Given the description of an element on the screen output the (x, y) to click on. 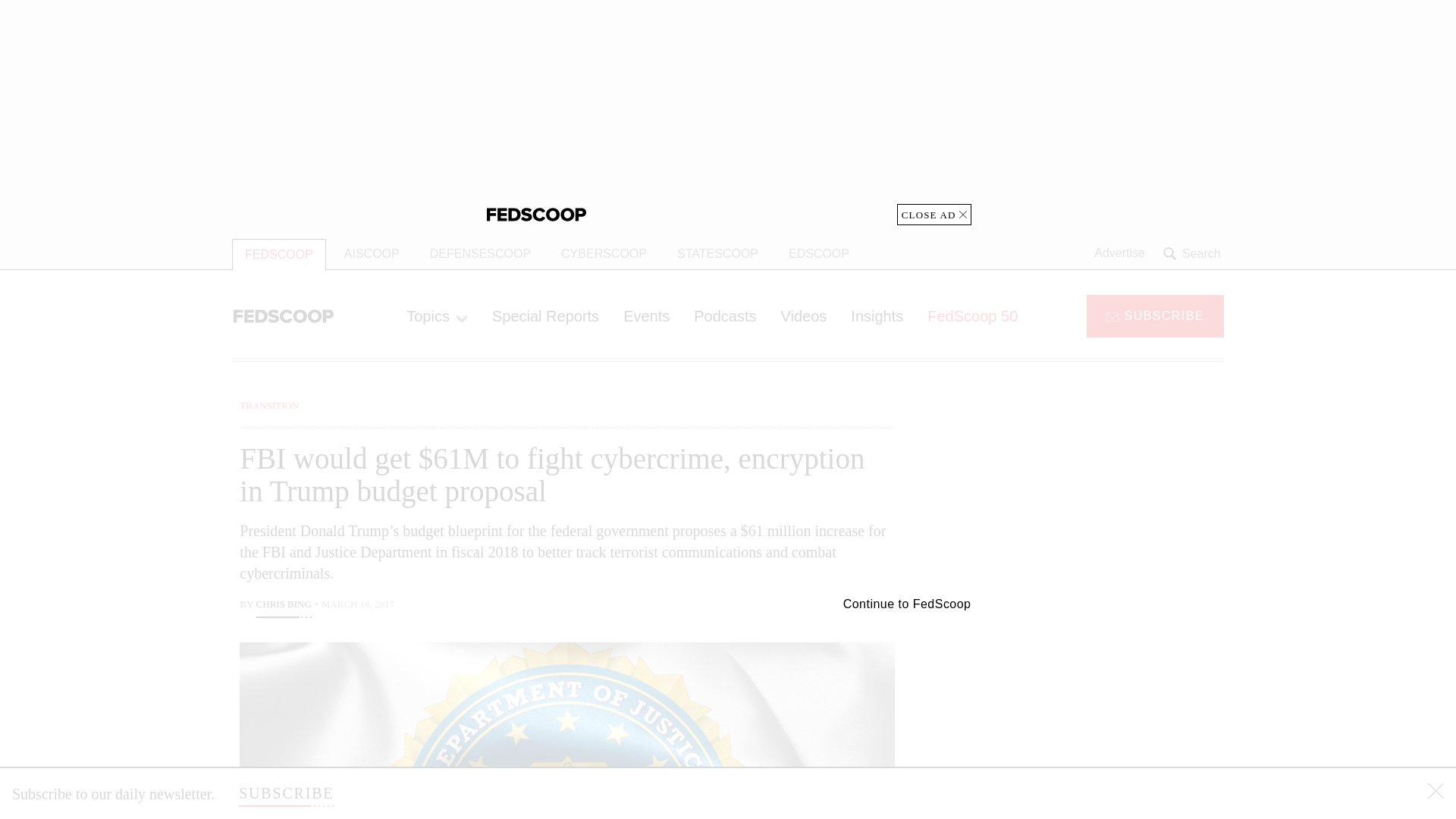
CHRIS BING (283, 605)
Insights (876, 315)
Special Reports (545, 315)
SUBSCRIBE (1155, 315)
Events (646, 315)
FedScoop 50 (972, 315)
Advertise (1119, 253)
DEFENSESCOOP (480, 254)
STATESCOOP (717, 254)
CYBERSCOOP (603, 254)
3rd party ad content (1101, 493)
TRANSITION (269, 405)
AISCOOP (371, 254)
EDSCOOP (818, 254)
Search (1193, 253)
